Given the description of an element on the screen output the (x, y) to click on. 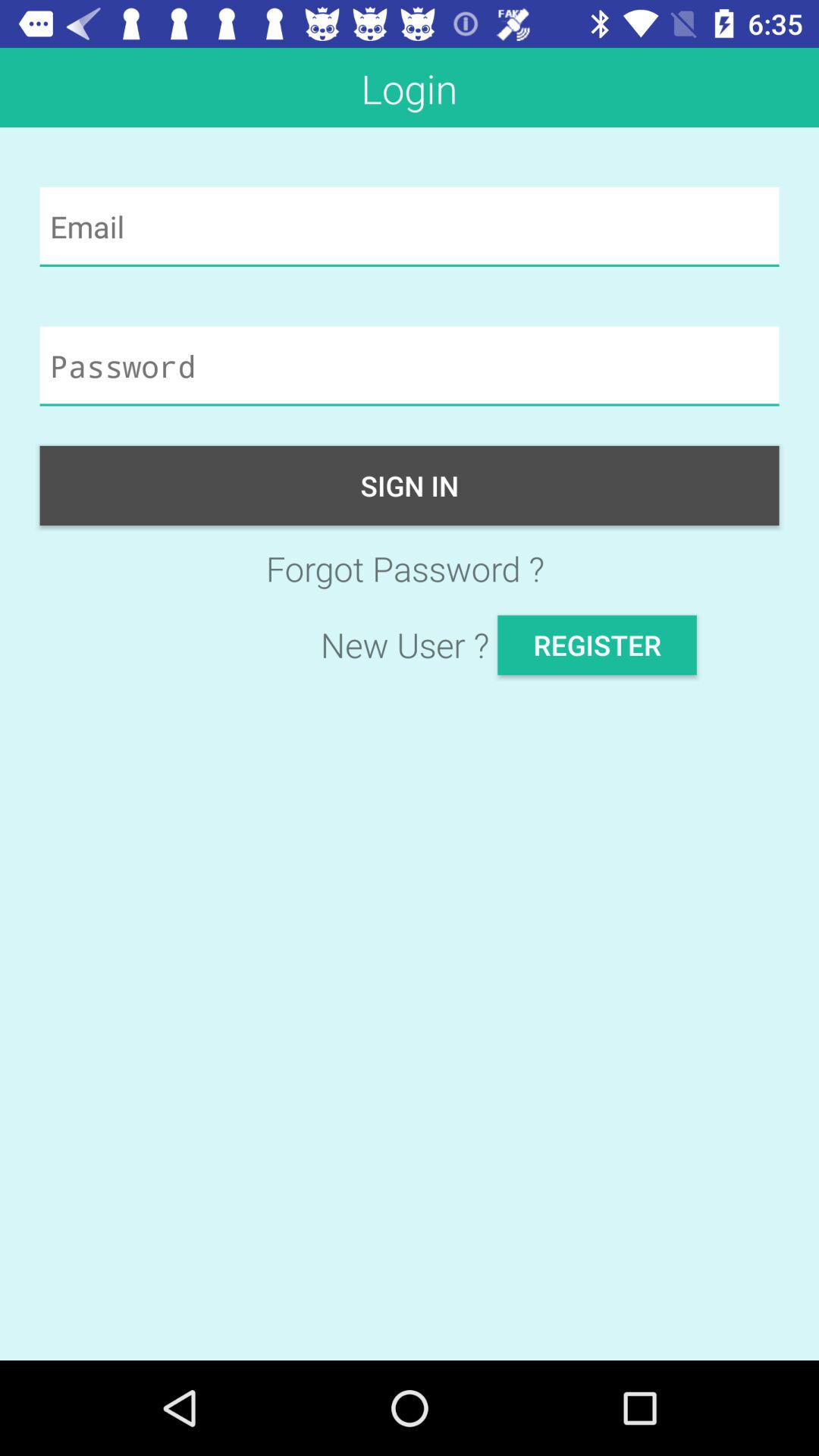
turn off the sign in item (409, 485)
